Given the description of an element on the screen output the (x, y) to click on. 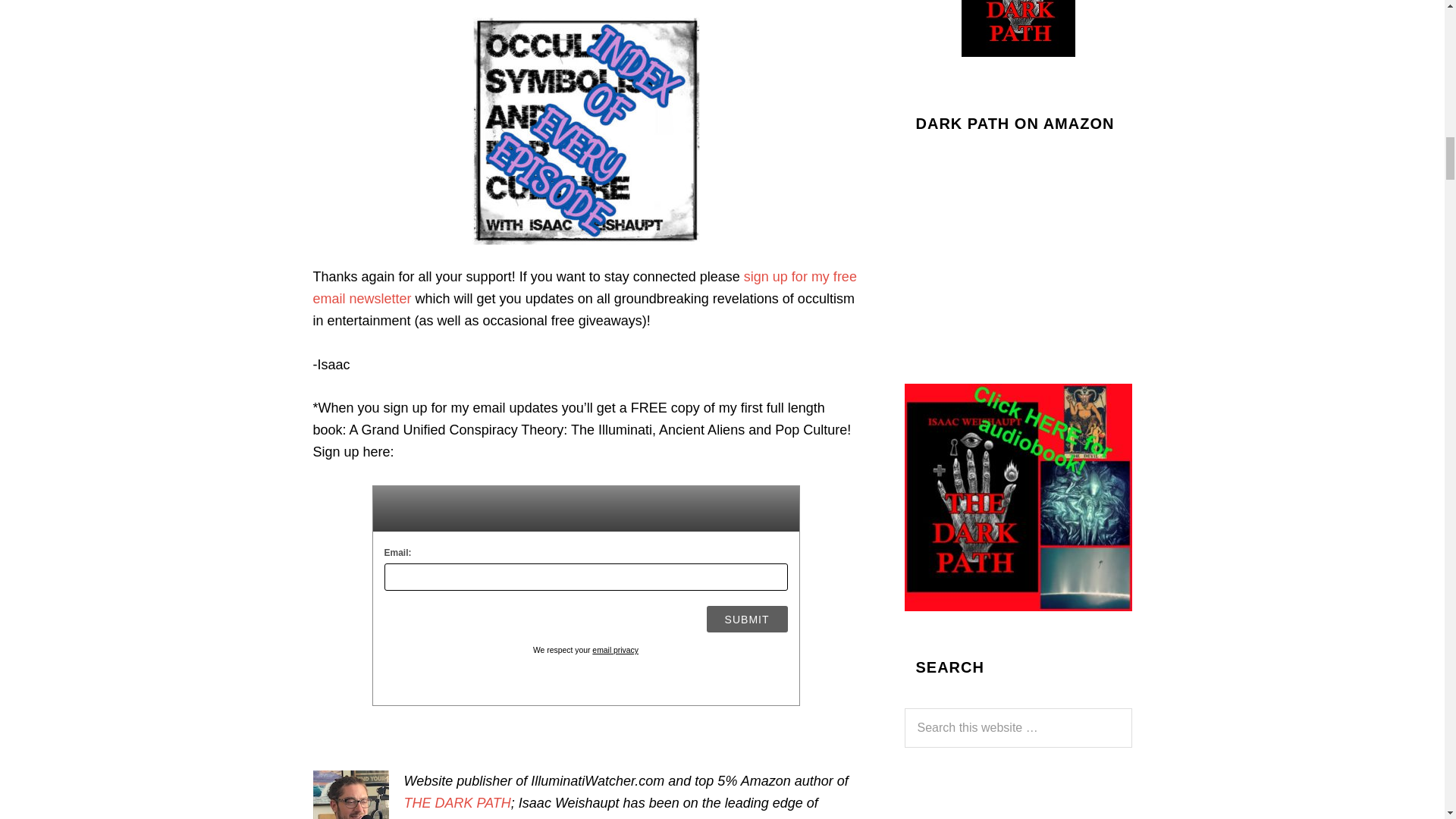
Privacy Policy (615, 650)
Submit (746, 619)
sign up for my free email newsletter (584, 287)
THE DARK PATH (457, 802)
Submit (746, 619)
email privacy (615, 650)
